Given the description of an element on the screen output the (x, y) to click on. 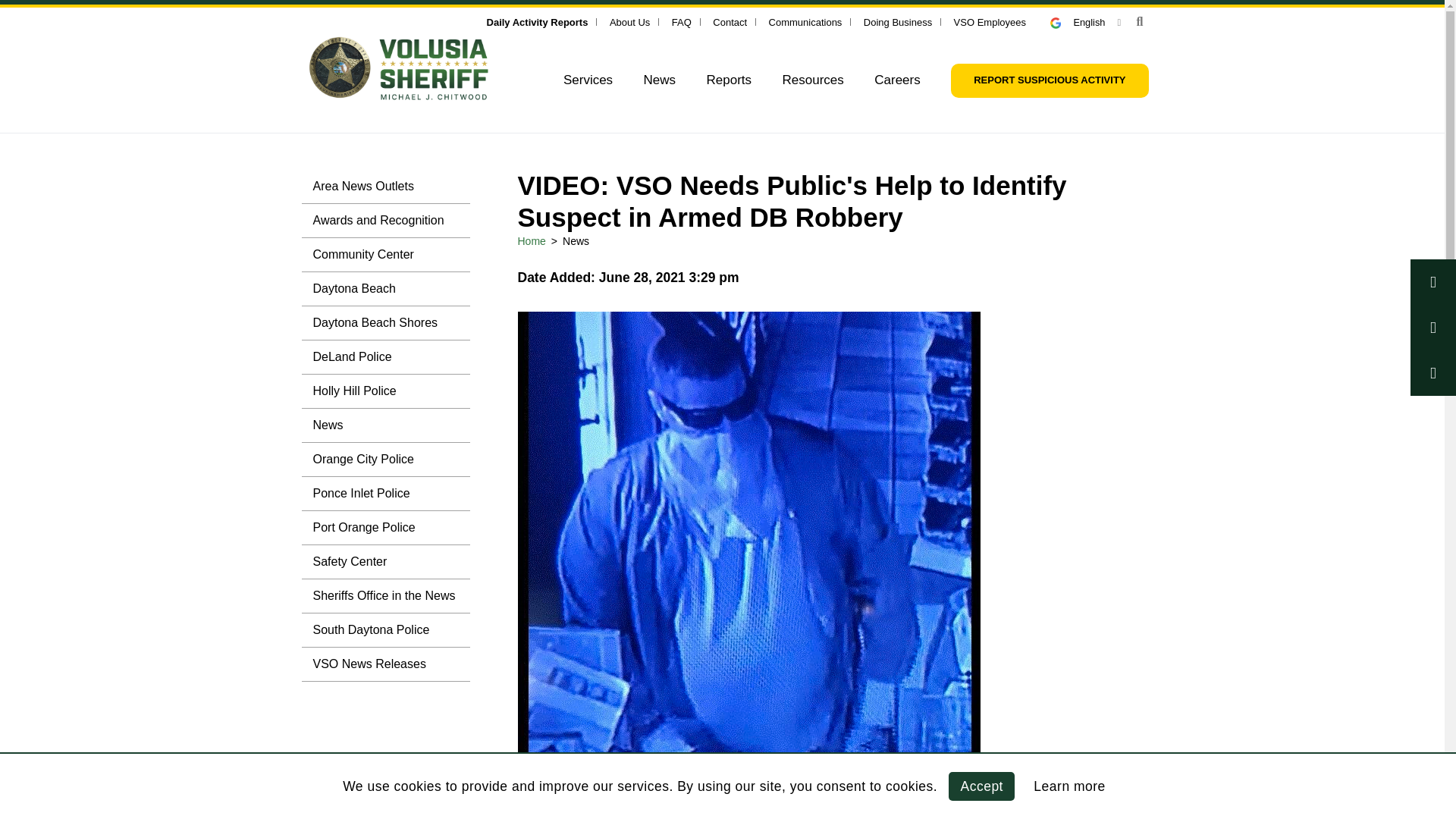
FAQ (681, 21)
About Us (629, 21)
Translate (1061, 22)
Contact (729, 21)
Translate (1085, 21)
Communications (805, 21)
VSO Employees (989, 21)
Daily Activity Reports (537, 21)
English (1085, 21)
Doing Business (897, 21)
